Given the description of an element on the screen output the (x, y) to click on. 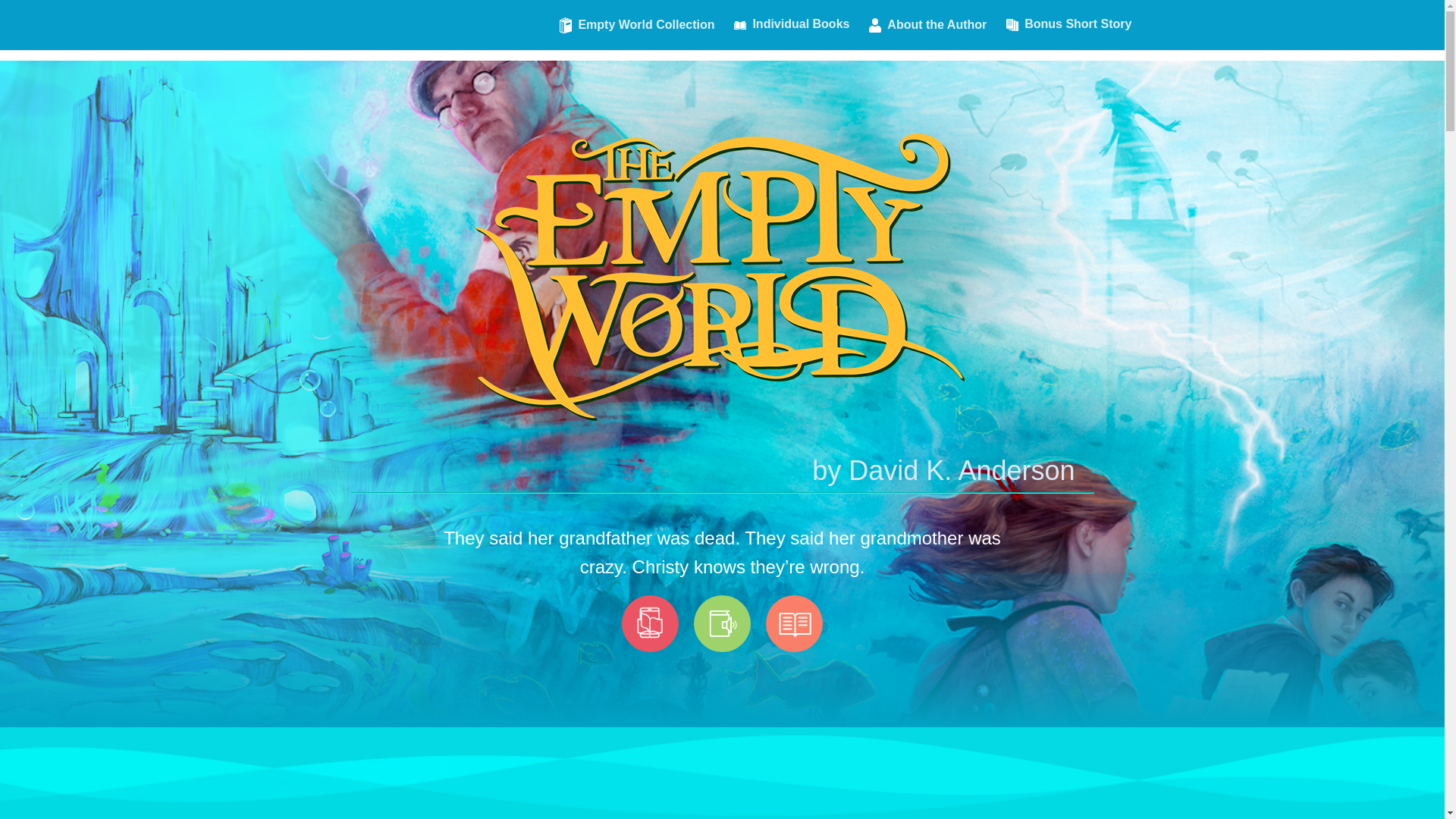
About the Author (928, 33)
Individual Books (790, 32)
Empty World Collection (636, 32)
Bonus Short Story (1068, 33)
